Given the description of an element on the screen output the (x, y) to click on. 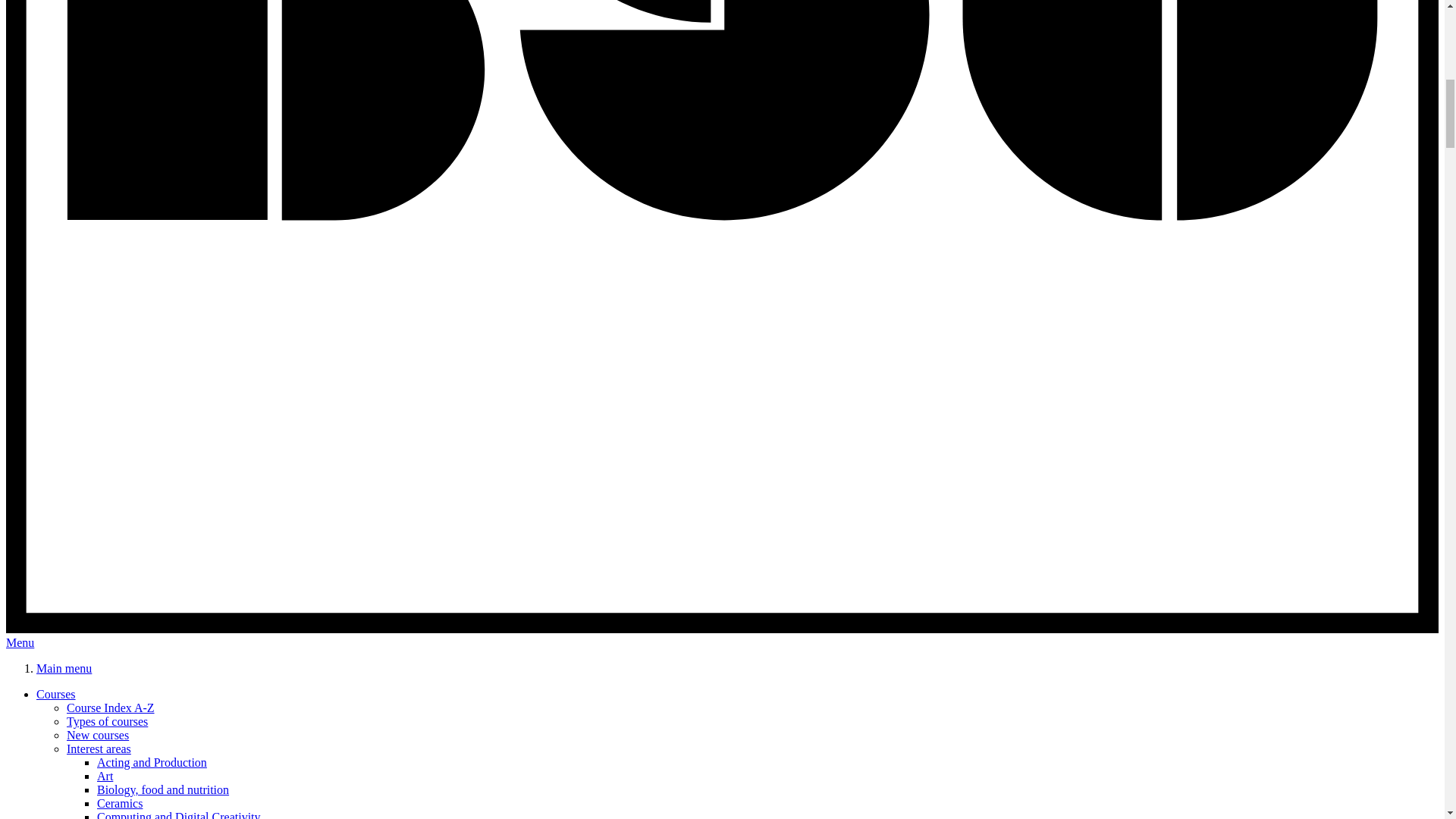
Courses (55, 694)
Interest areas (98, 748)
Biology, food and nutrition (162, 789)
Types of courses (107, 721)
Computing and Digital Creativity (178, 814)
Course Index A-Z (110, 707)
Menu (19, 642)
Acting and Production (151, 762)
Ceramics (119, 802)
Main menu (63, 667)
New courses (97, 735)
Art (105, 775)
